Given the description of an element on the screen output the (x, y) to click on. 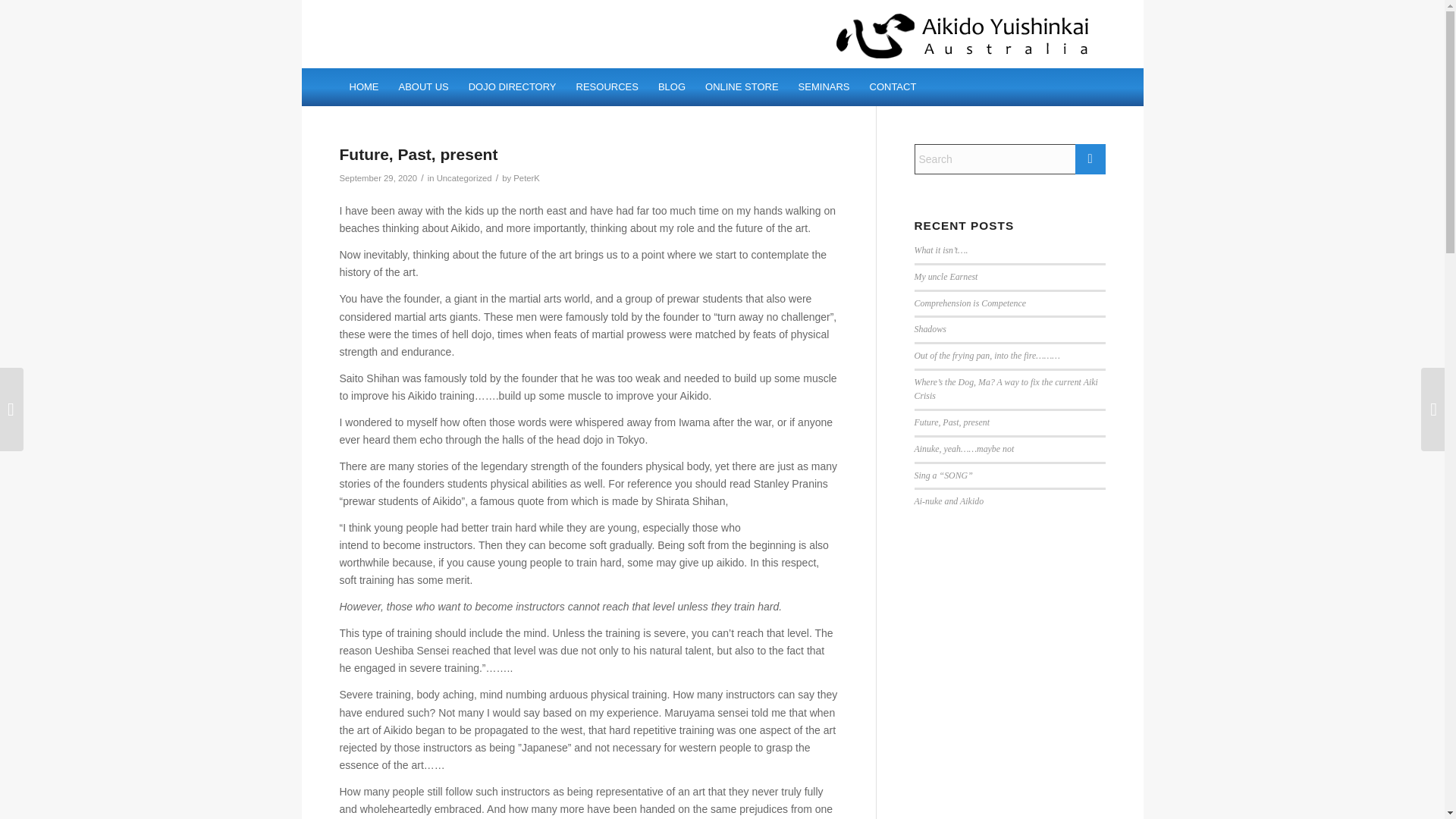
RESOURCES (606, 86)
BLOG (671, 86)
ONLINE STORE (742, 86)
DOJO DIRECTORY (512, 86)
HOME (363, 86)
ABOUT US (423, 86)
Posts by PeterK (526, 177)
PeterK (526, 177)
Uncategorized (464, 177)
